Given the description of an element on the screen output the (x, y) to click on. 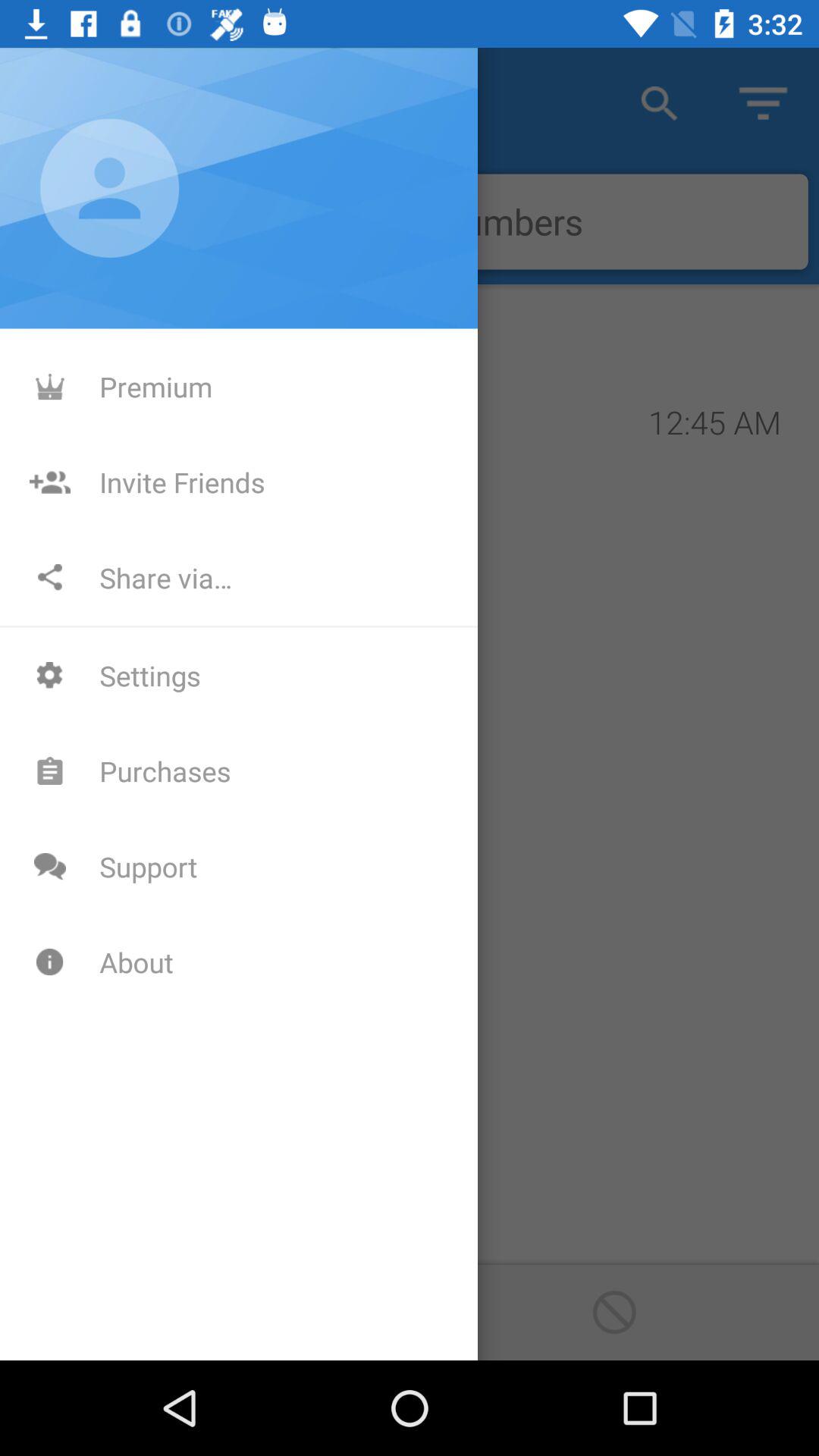
select the profile icon which is above the premium (109, 187)
click on the three identical lines at the top right corner of the page (763, 103)
